Given the description of an element on the screen output the (x, y) to click on. 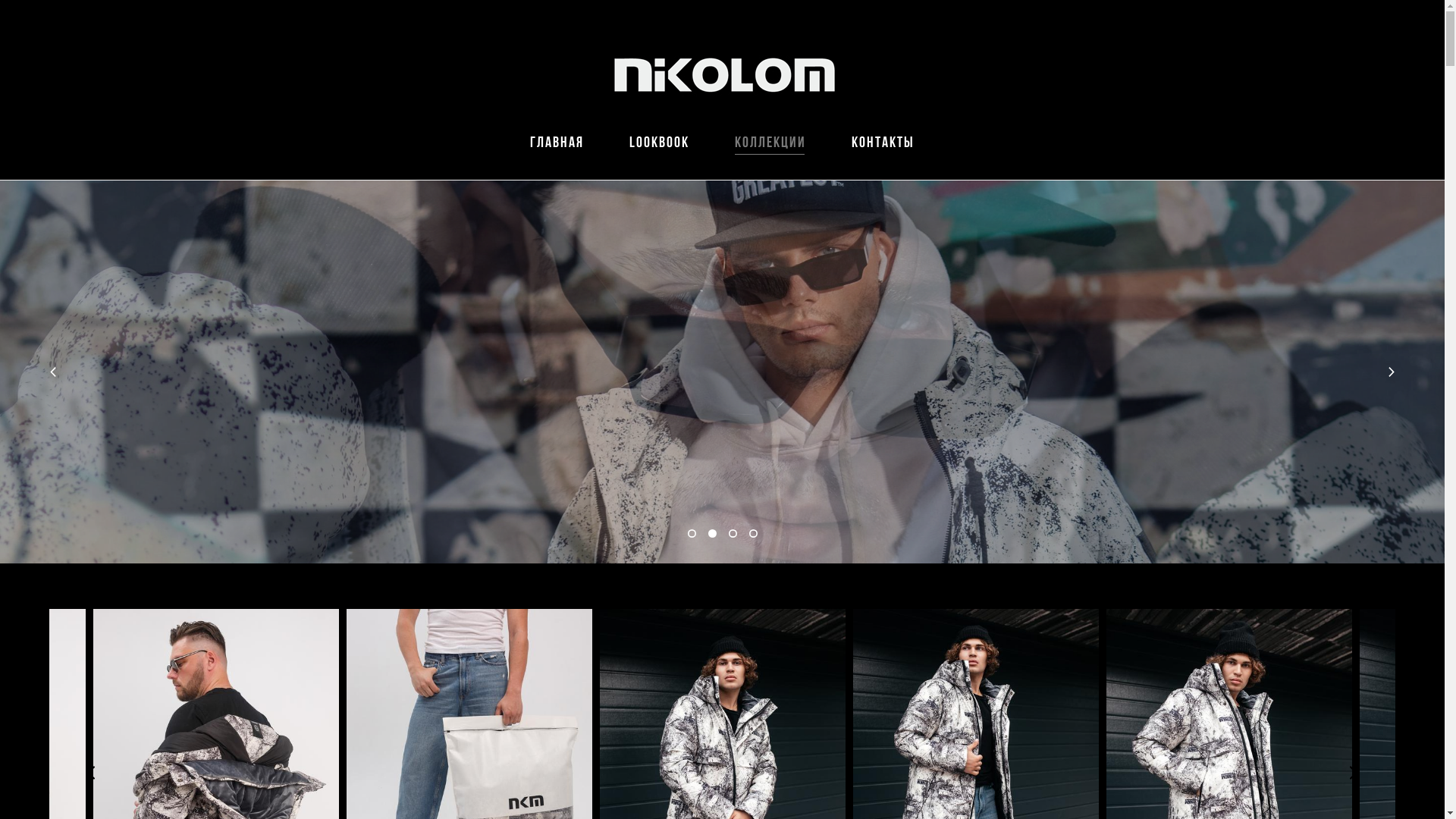
lookbook Element type: text (659, 141)
